Given the description of an element on the screen output the (x, y) to click on. 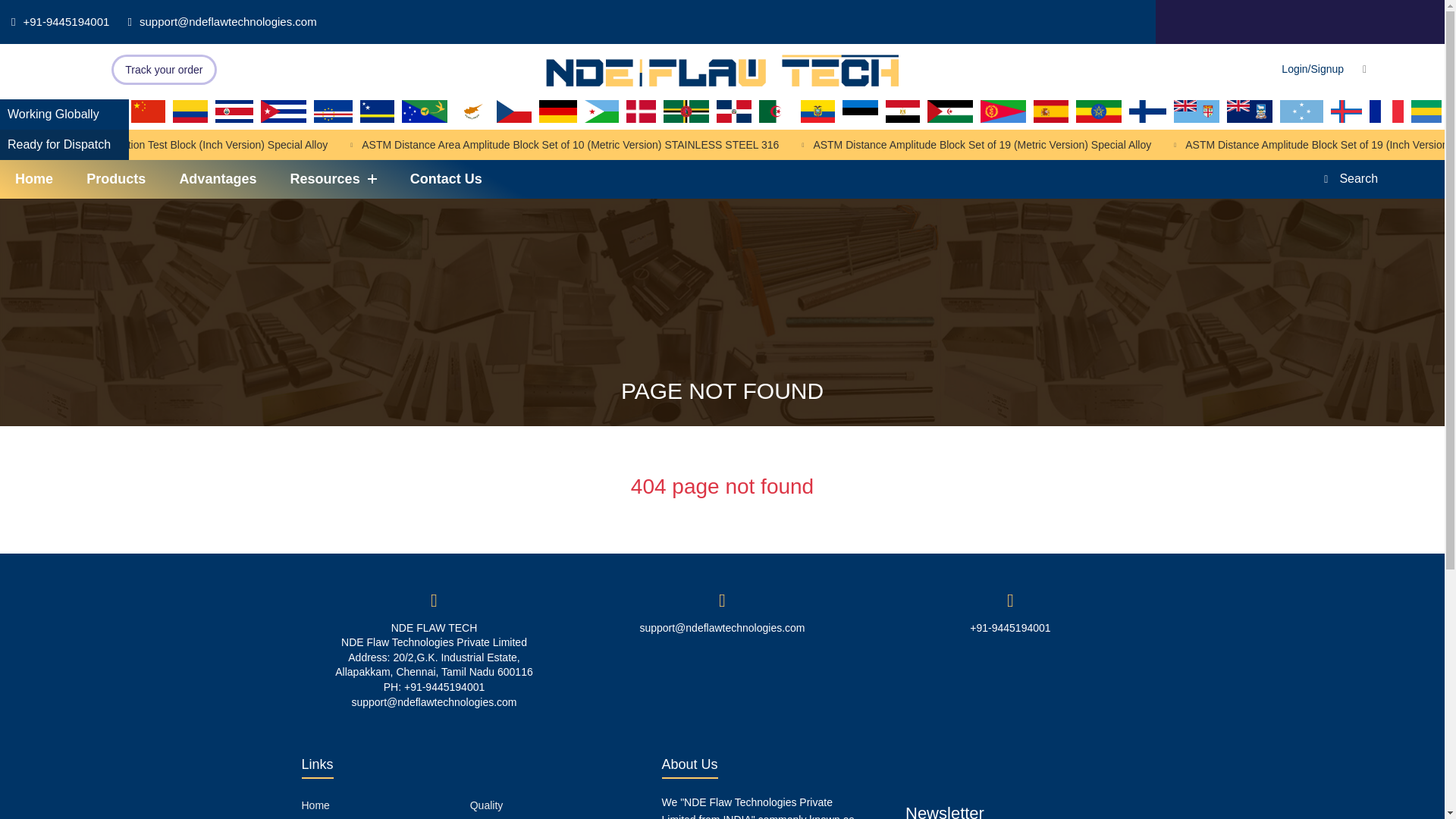
Track your order (163, 69)
